Given the description of an element on the screen output the (x, y) to click on. 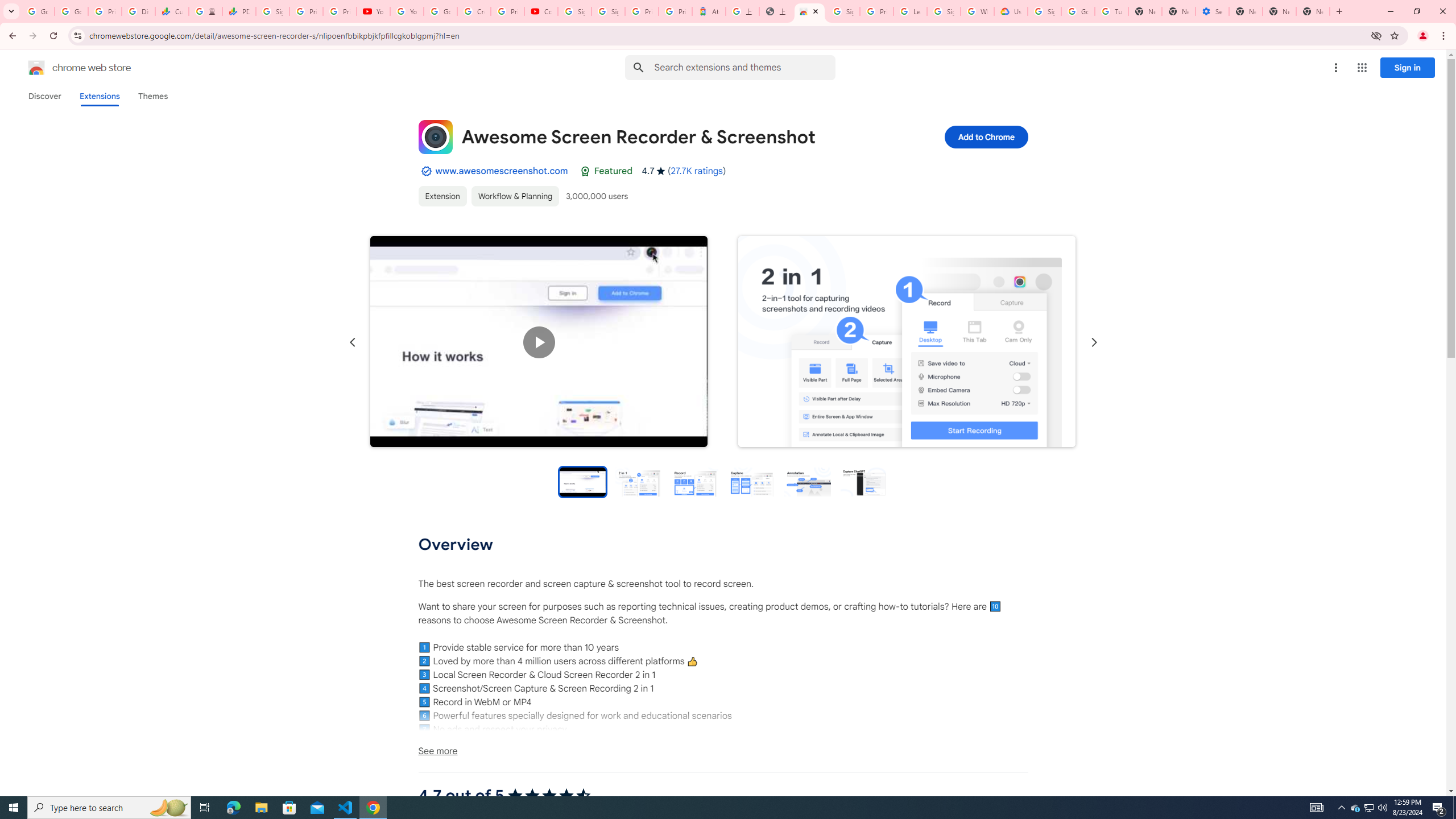
Google Account Help (1077, 11)
Chrome Web Store logo (36, 67)
Item media 2 screenshot (906, 342)
Preview slide 3 (694, 481)
By Established Publisher Badge (425, 170)
YouTube (372, 11)
Preview slide 6 (863, 481)
Create your Google Account (474, 11)
Workflow & Planning (514, 195)
New Tab (1313, 11)
Who are Google's partners? - Privacy and conditions - Google (976, 11)
